Given the description of an element on the screen output the (x, y) to click on. 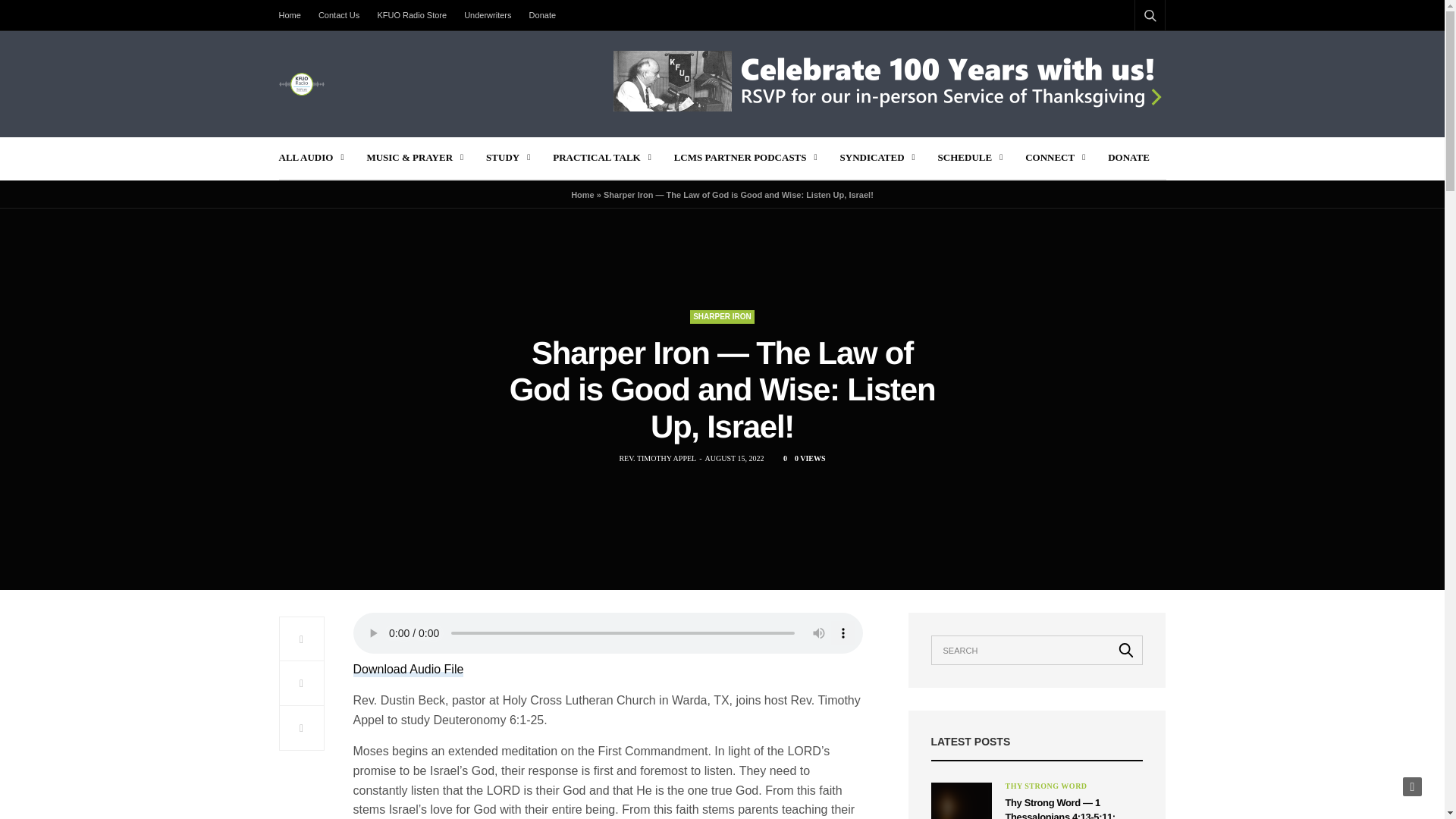
Search (1125, 649)
Sharper Iron (722, 316)
ALL AUDIO (311, 157)
Donate (542, 15)
Home (293, 15)
Search (1129, 51)
Underwriters (487, 15)
KFUO Radio Store (411, 15)
Posts by Rev. Timothy Appel (656, 458)
Contact Us (338, 15)
